Given the description of an element on the screen output the (x, y) to click on. 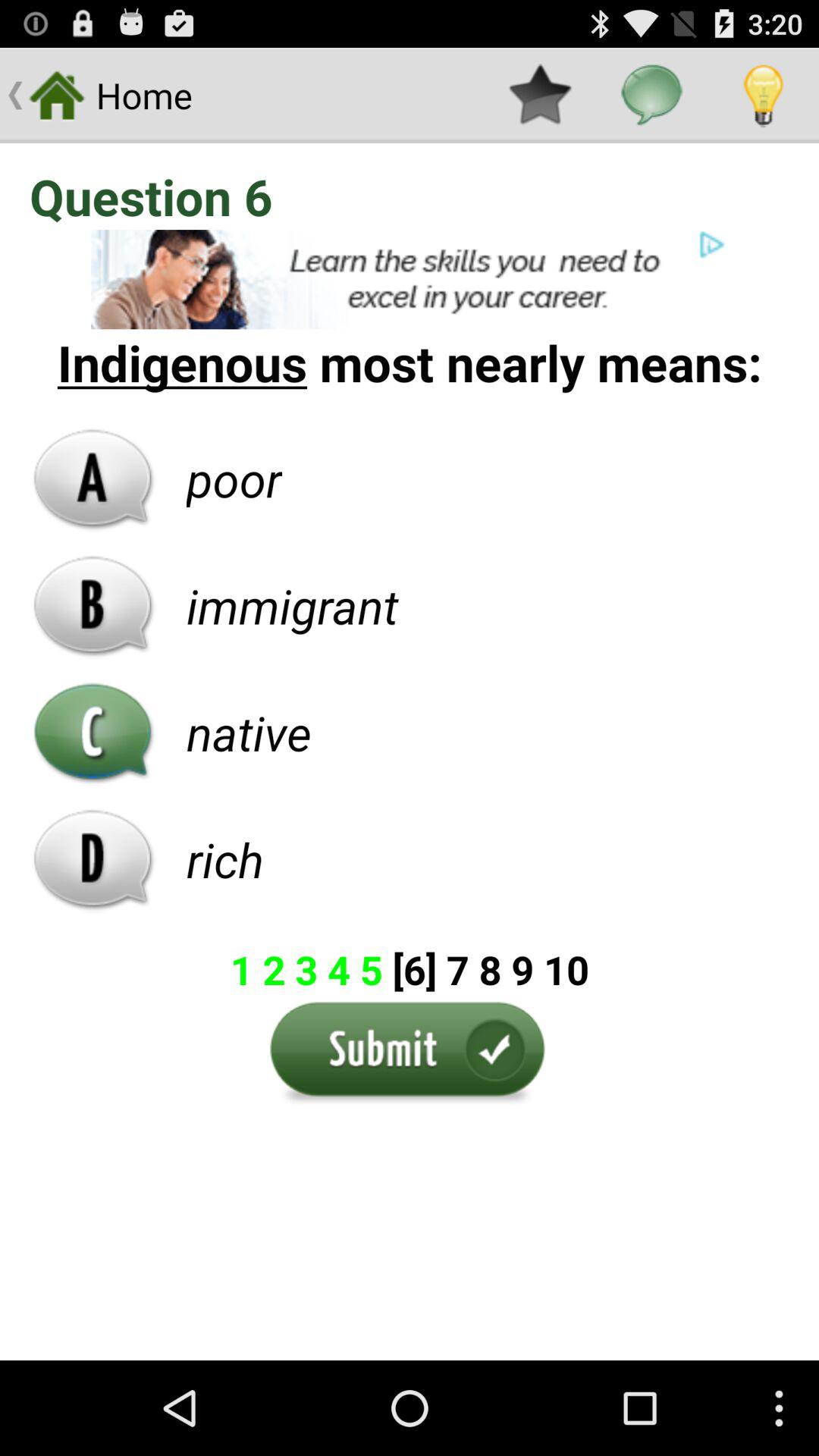
click on immigrant (292, 605)
click on the submit option (409, 1055)
click on icon left to native (93, 732)
click on icon on the right side of home (540, 95)
